Given the description of an element on the screen output the (x, y) to click on. 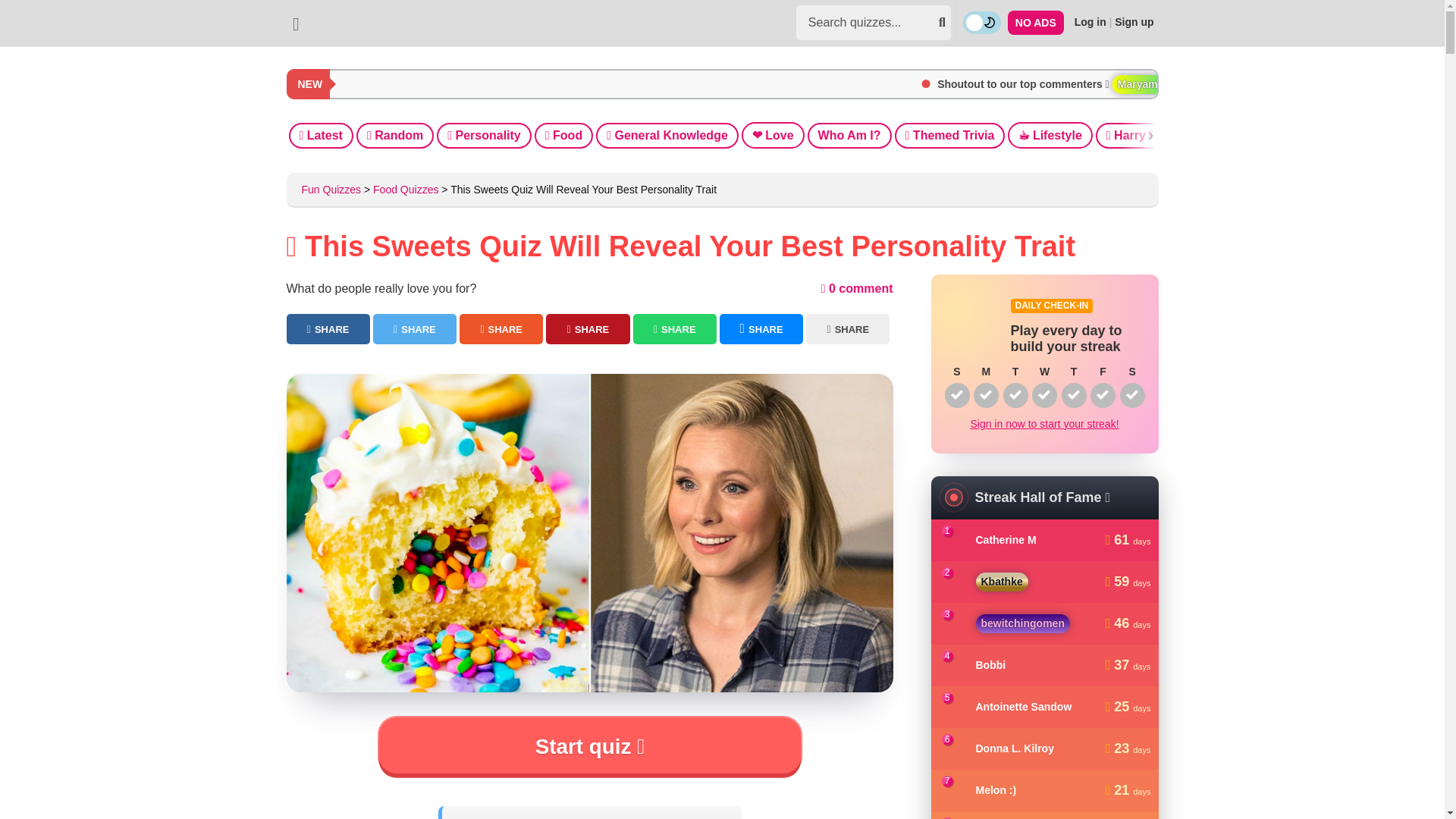
Share this quiz on Facebook (327, 328)
Email this quiz to a friend (847, 328)
Share this quiz on Reddit (501, 328)
Sign up (1134, 21)
Text this quiz to a friend (761, 328)
Share this quiz on Pinterest (587, 328)
Share this quiz on Twitter (414, 328)
Log in (1090, 21)
NO ADS (1035, 22)
Menu (295, 23)
Share this quiz on WhatsApp (674, 328)
